Given the description of an element on the screen output the (x, y) to click on. 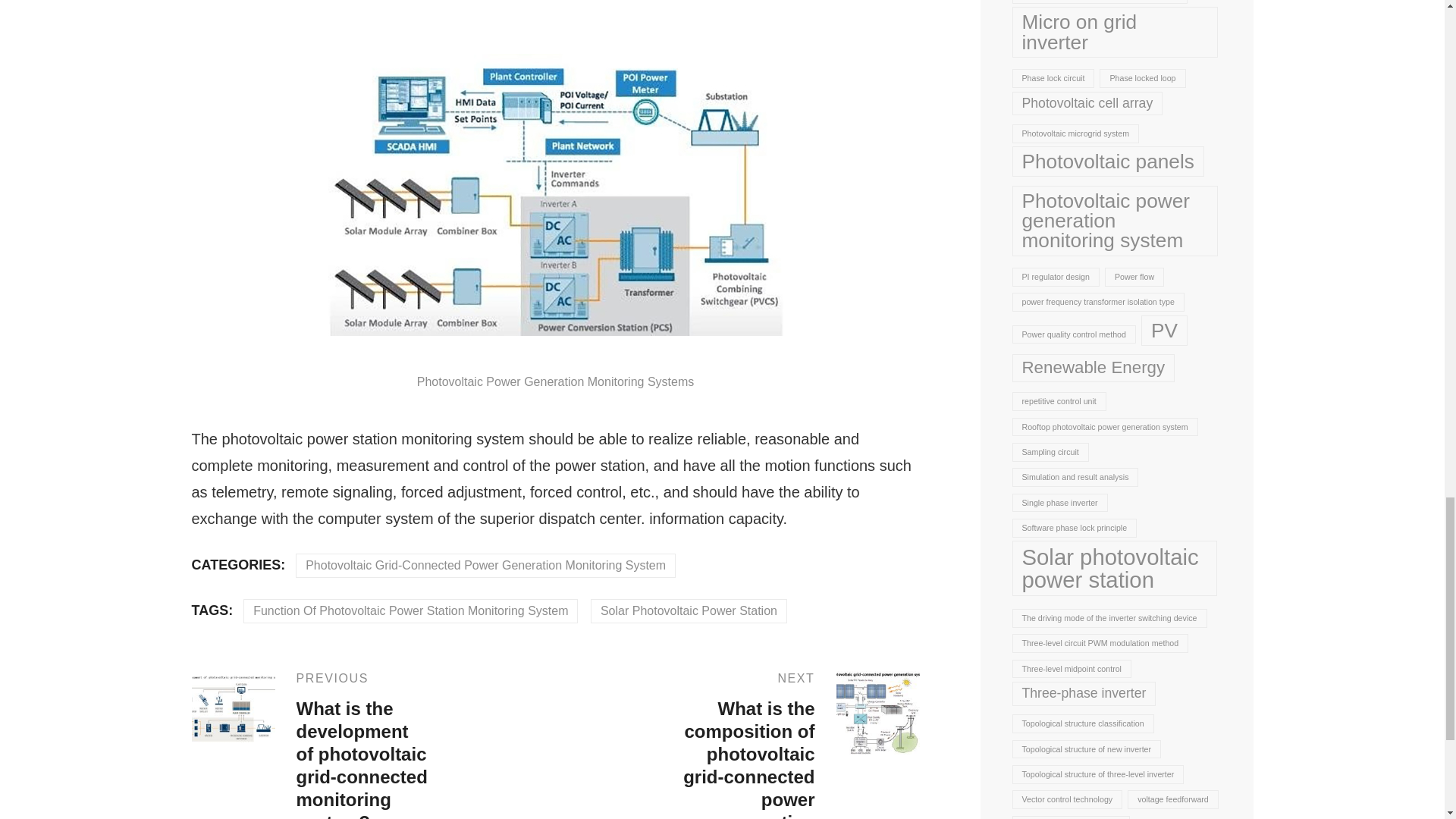
Micro on grid inverter (1114, 31)
Mathematical model of three-phase inverter (1099, 2)
Solar Photovoltaic Power Station (689, 610)
Function Of Photovoltaic Power Station Monitoring System (410, 610)
